Given the description of an element on the screen output the (x, y) to click on. 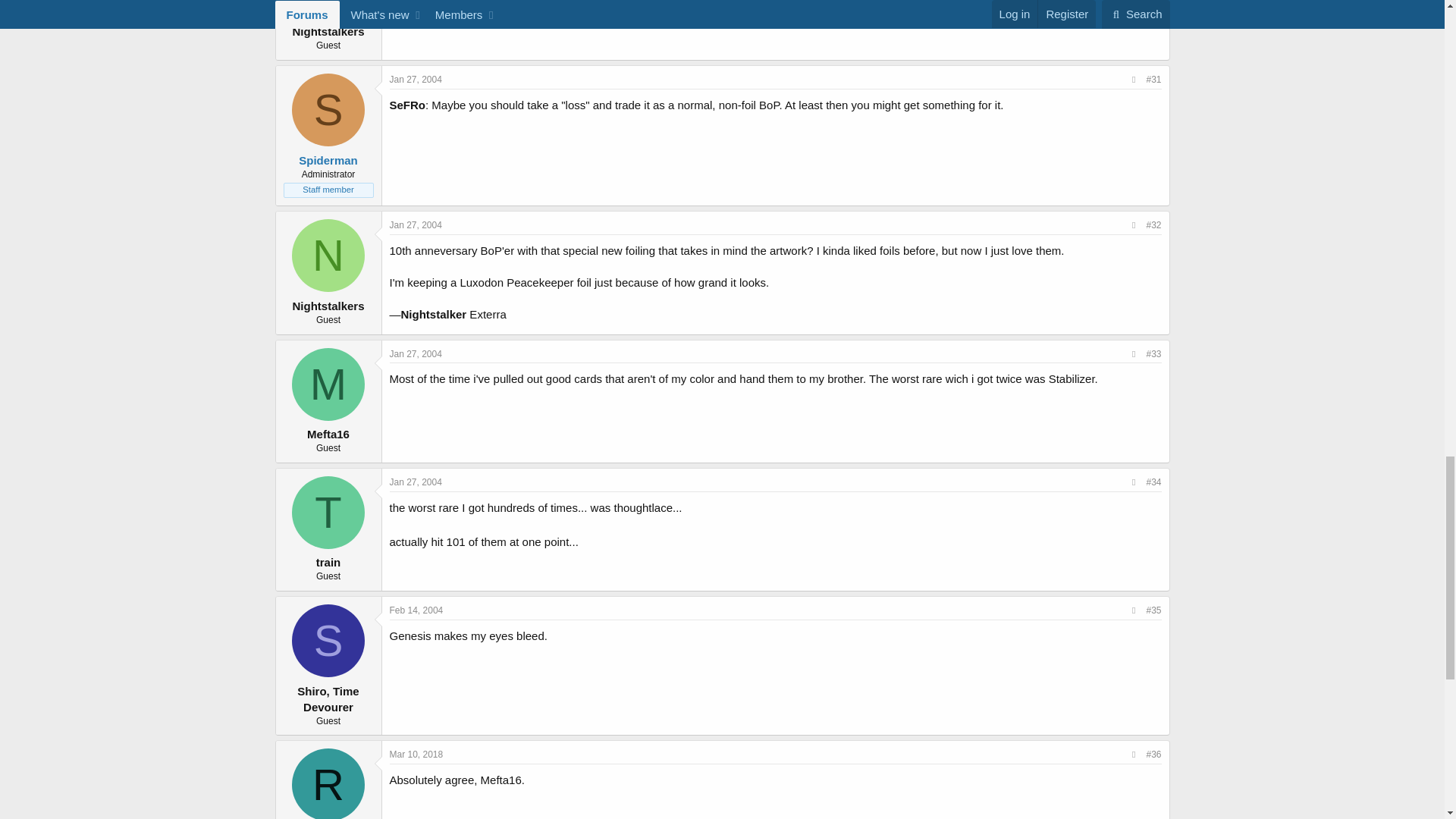
Jan 27, 2004 at 7:30 AM (416, 79)
